Given the description of an element on the screen output the (x, y) to click on. 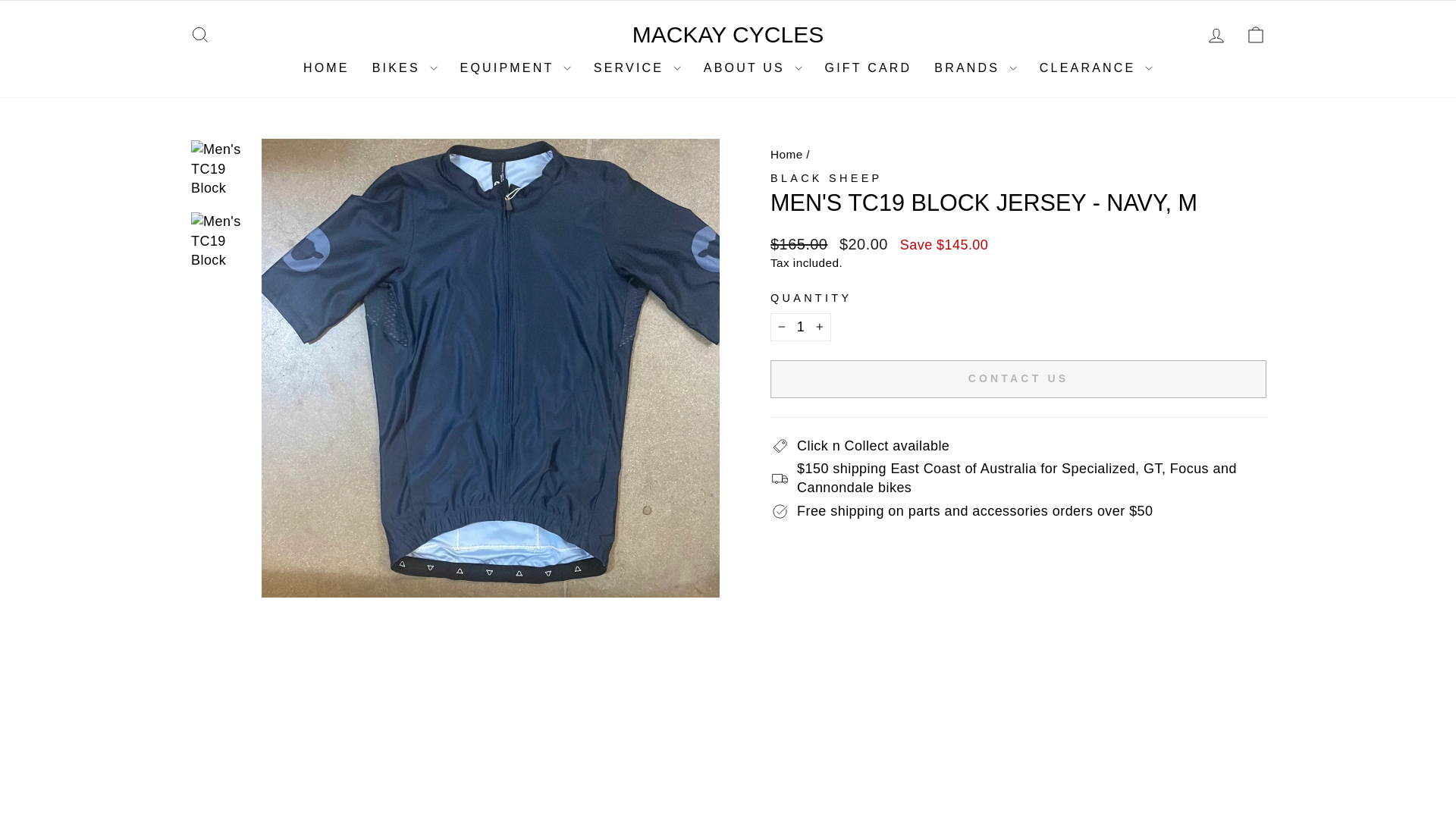
ACCOUNT (1216, 35)
ICON-SEARCH (200, 34)
BLACK SHEEP (826, 177)
1 (800, 326)
ICON-BAG-MINIMAL (1255, 34)
Back to the frontpage (786, 154)
